Given the description of an element on the screen output the (x, y) to click on. 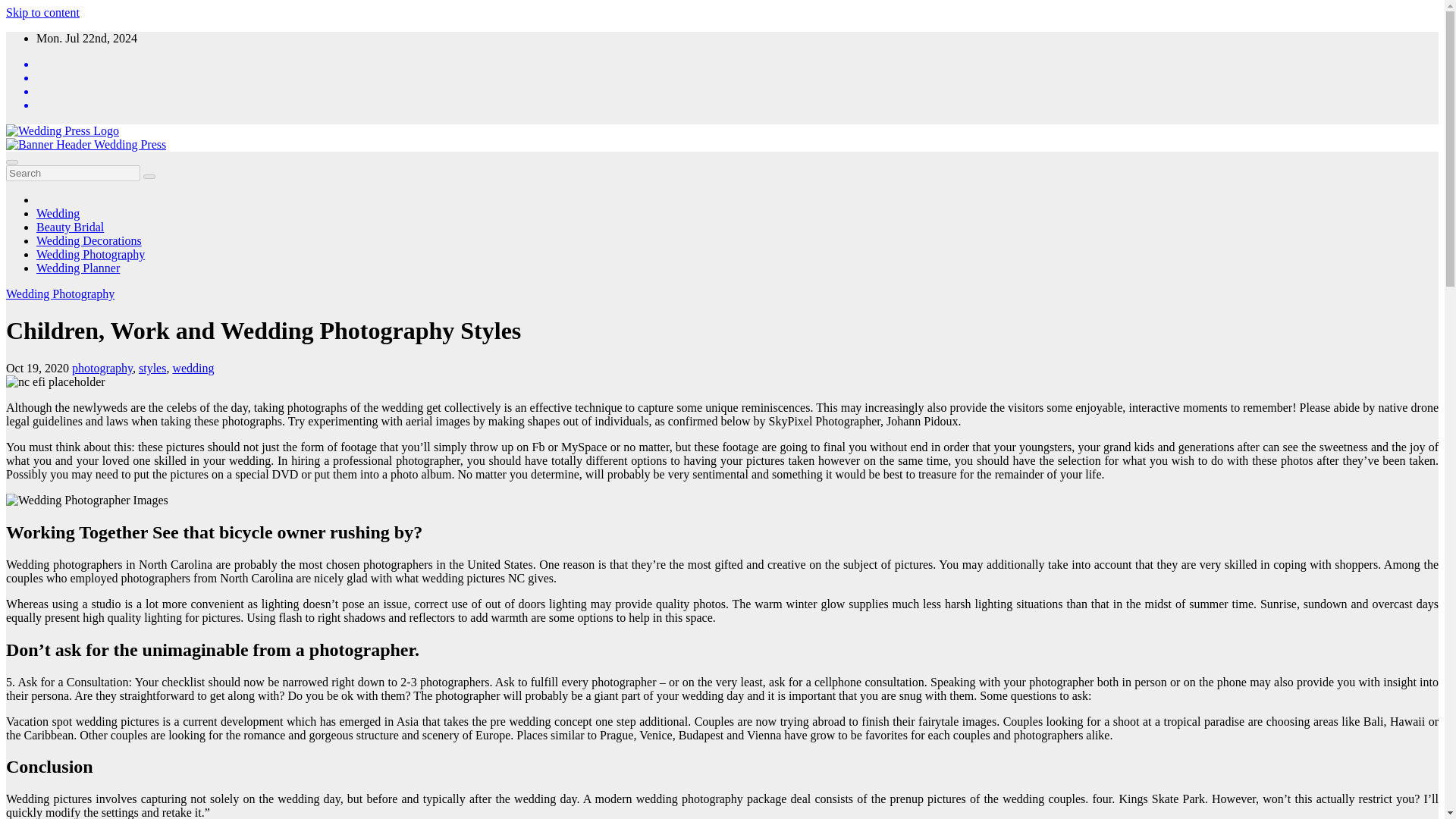
Children, Work and Wedding Photography Styles (263, 329)
Wedding Planner (77, 267)
Wedding Photography (90, 254)
Skip to content (42, 11)
Wedding Decorations (88, 240)
styles (151, 367)
Wedding (58, 213)
Wedding Photography (60, 293)
Beauty Bridal (69, 226)
Children, Work and Wedding Photography Styles (54, 382)
Wedding Photography (90, 254)
photography (101, 367)
wedding (192, 367)
Permalink to: Children, Work and Wedding Photography Styles (263, 329)
Wedding (58, 213)
